Given the description of an element on the screen output the (x, y) to click on. 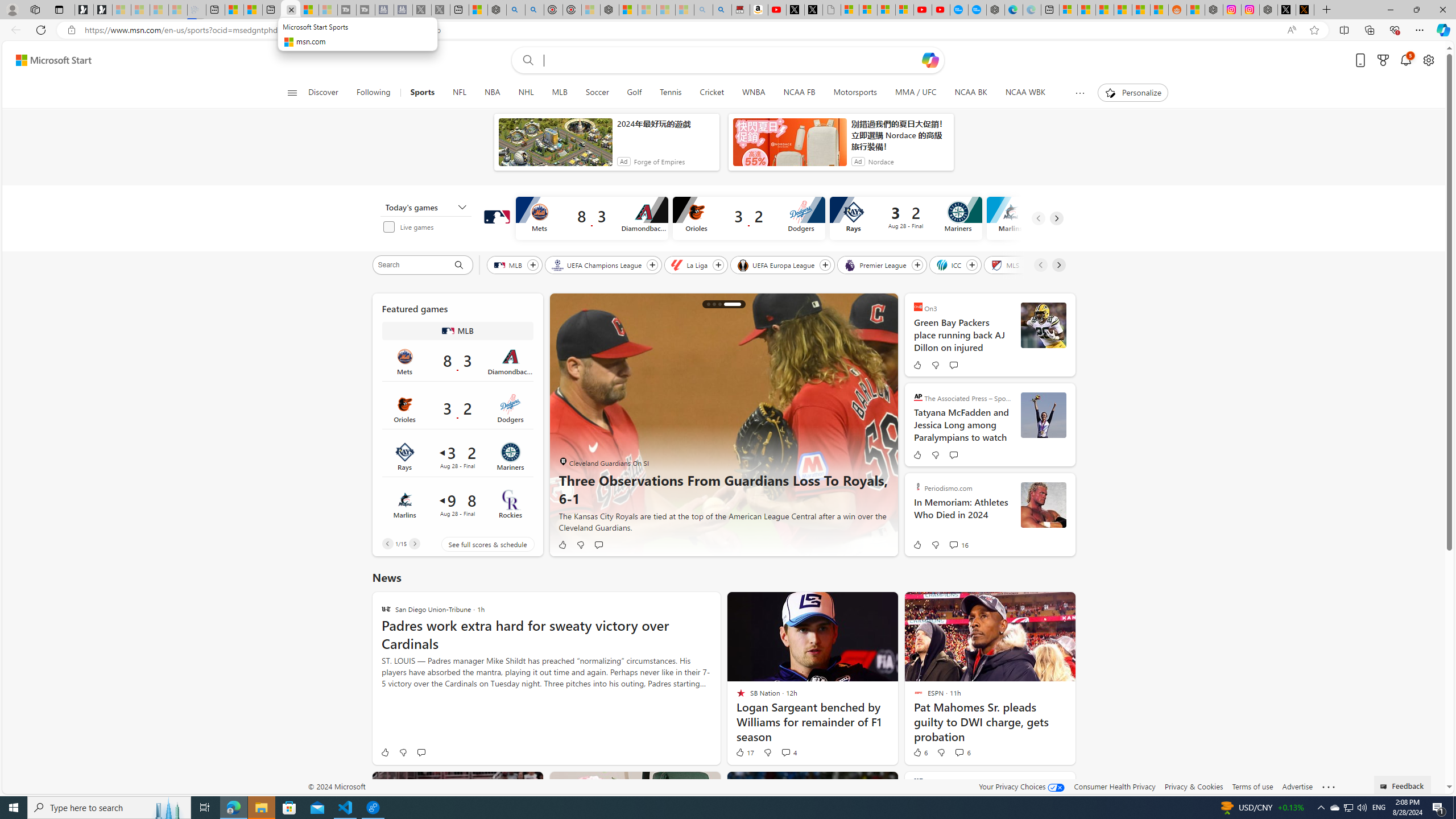
Follow La Liga (718, 265)
Your Privacy Choices (1021, 785)
Next (413, 543)
Class: oneFooter_seeMore-DS-EntryPoint1-1 (1328, 786)
Periodismo.com (917, 486)
Tennis (670, 92)
